Given the description of an element on the screen output the (x, y) to click on. 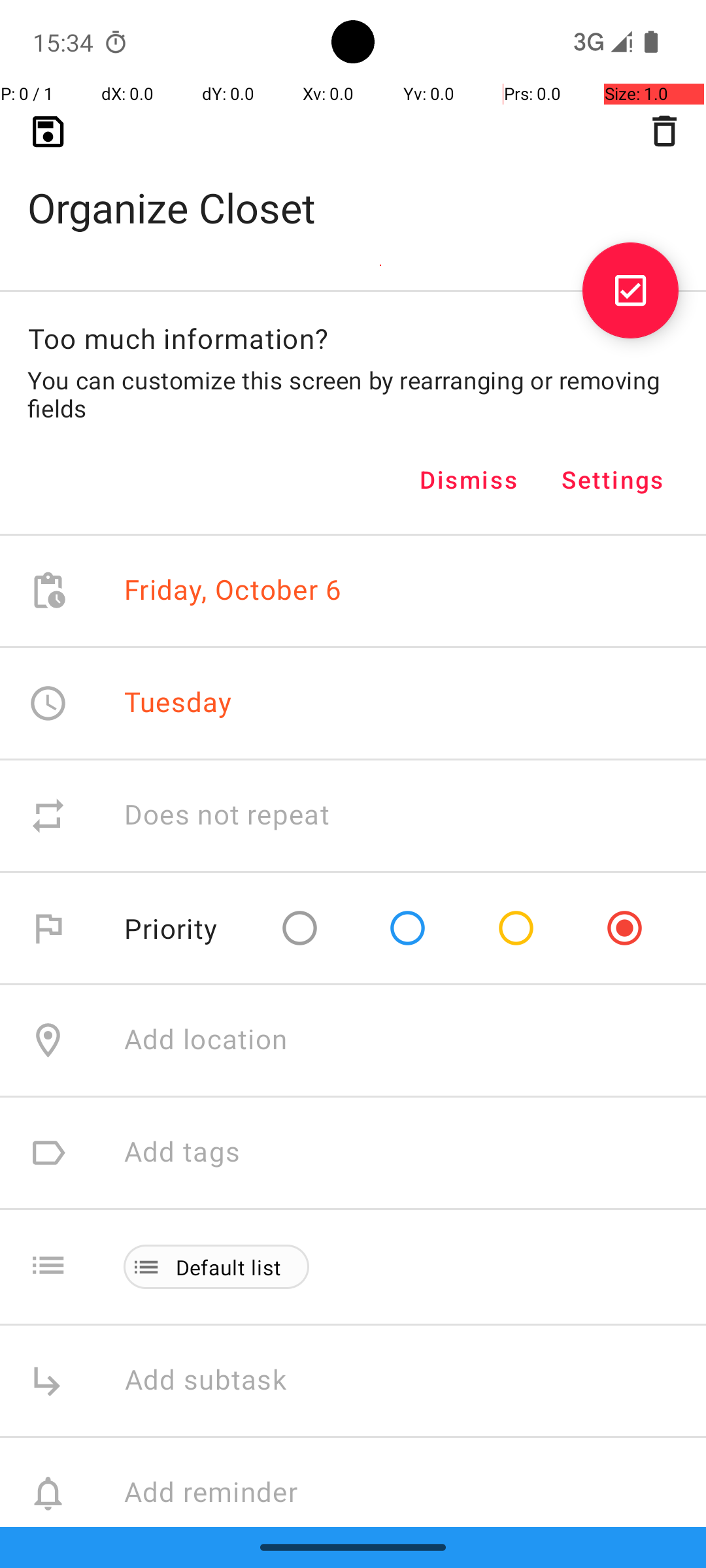
Friday, October 6 Element type: android.widget.TextView (232, 590)
